Given the description of an element on the screen output the (x, y) to click on. 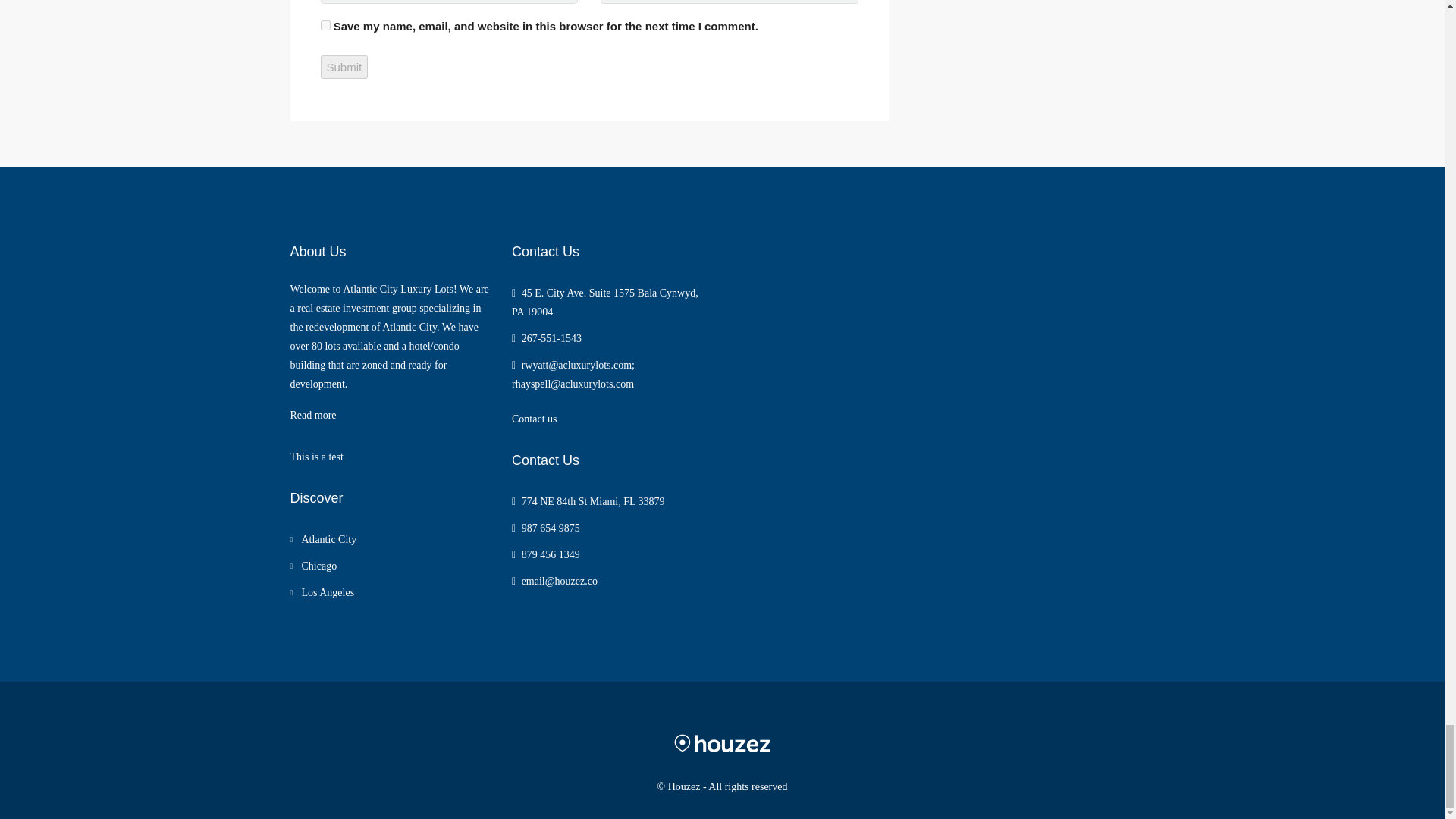
yes (325, 25)
Submit (344, 66)
